Given the description of an element on the screen output the (x, y) to click on. 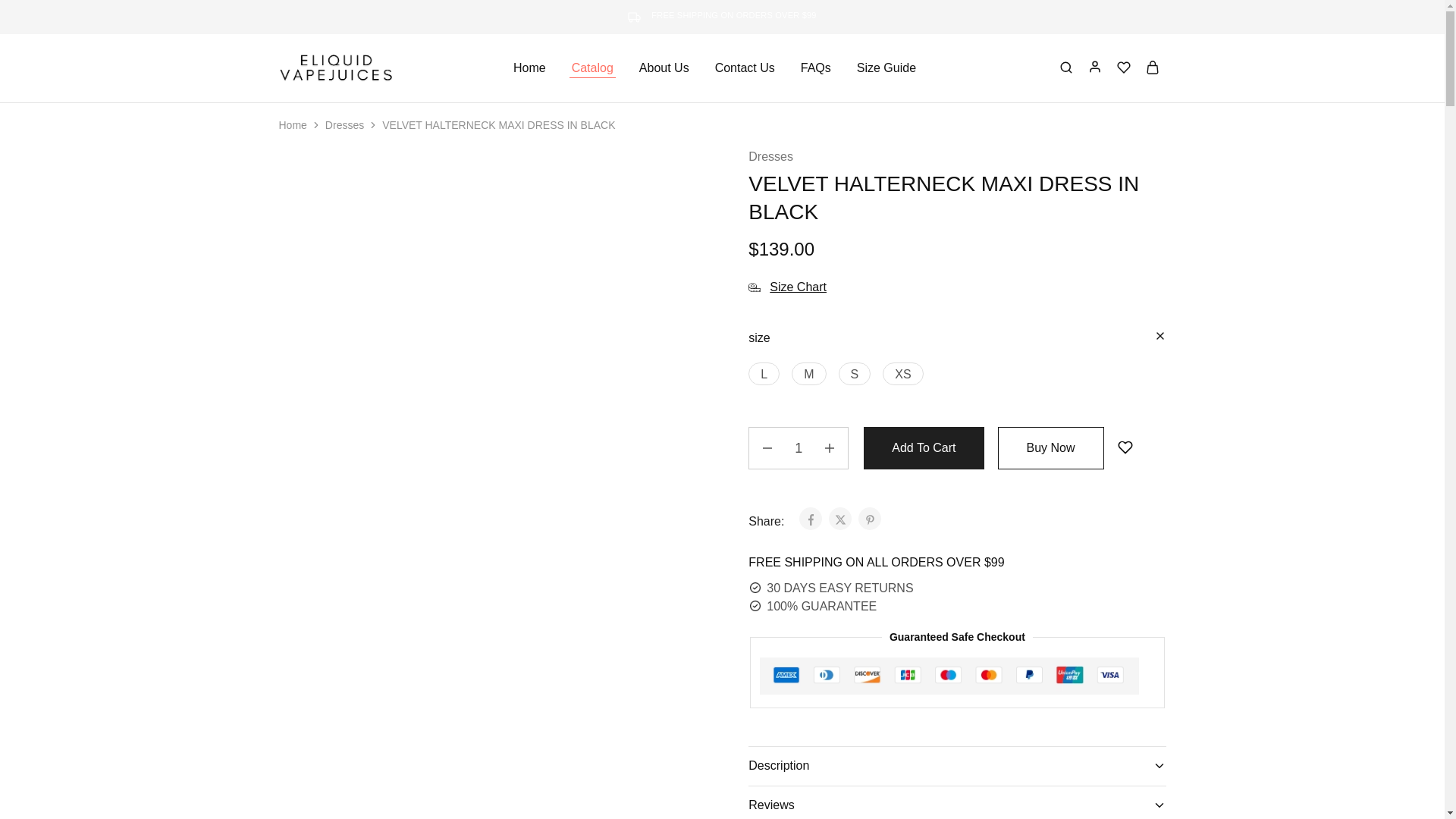
Home (529, 67)
About Us (664, 67)
Buy Now (1050, 447)
Description (957, 765)
Dresses (344, 124)
Home (293, 124)
FAQs (814, 67)
Size Chart (787, 287)
Contact Us (745, 67)
Dresses (770, 157)
Reviews (957, 802)
Catalog (592, 67)
Size Guide (886, 67)
Add To Cart (923, 447)
